Given the description of an element on the screen output the (x, y) to click on. 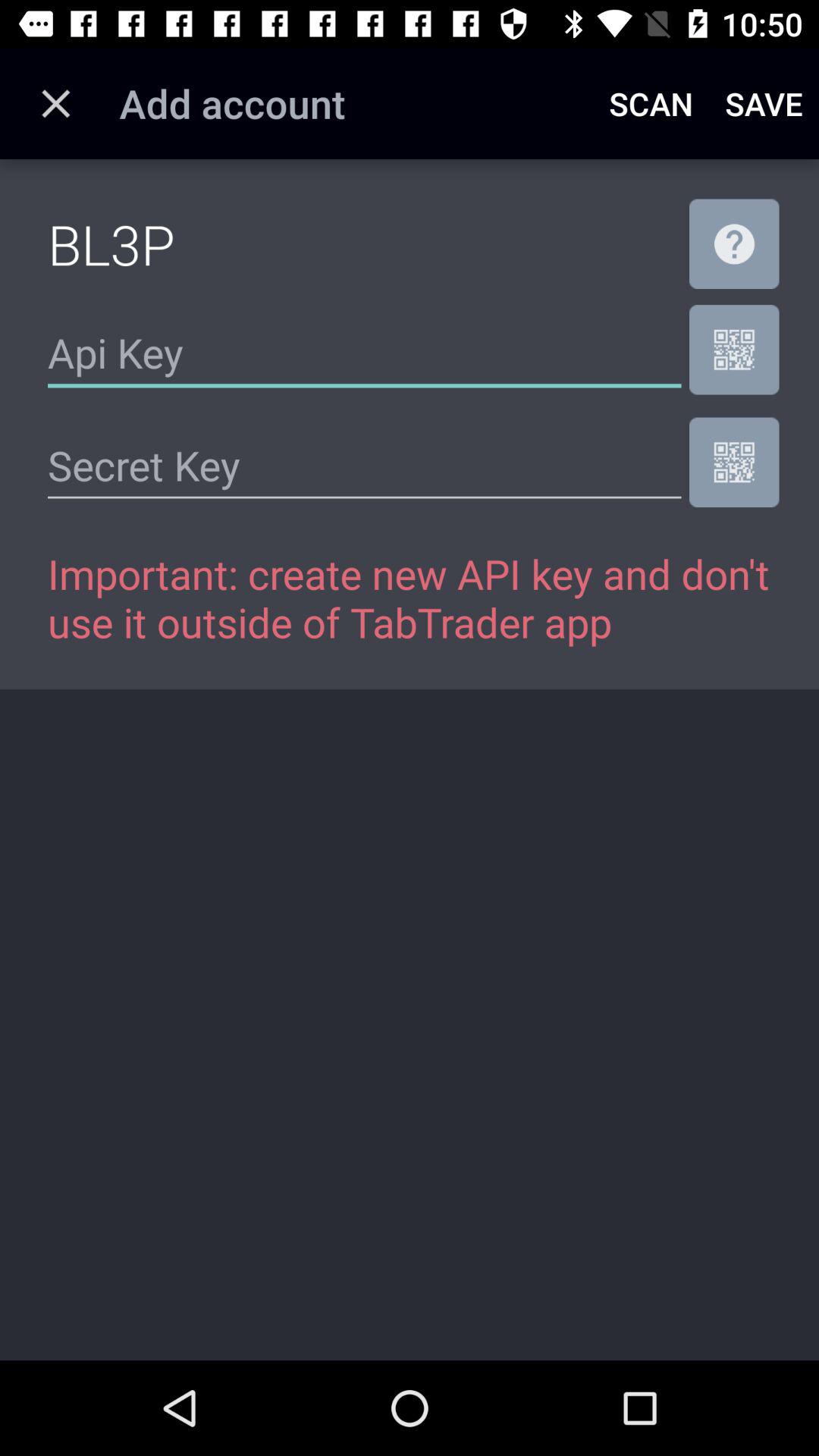
swipe until save (764, 103)
